Given the description of an element on the screen output the (x, y) to click on. 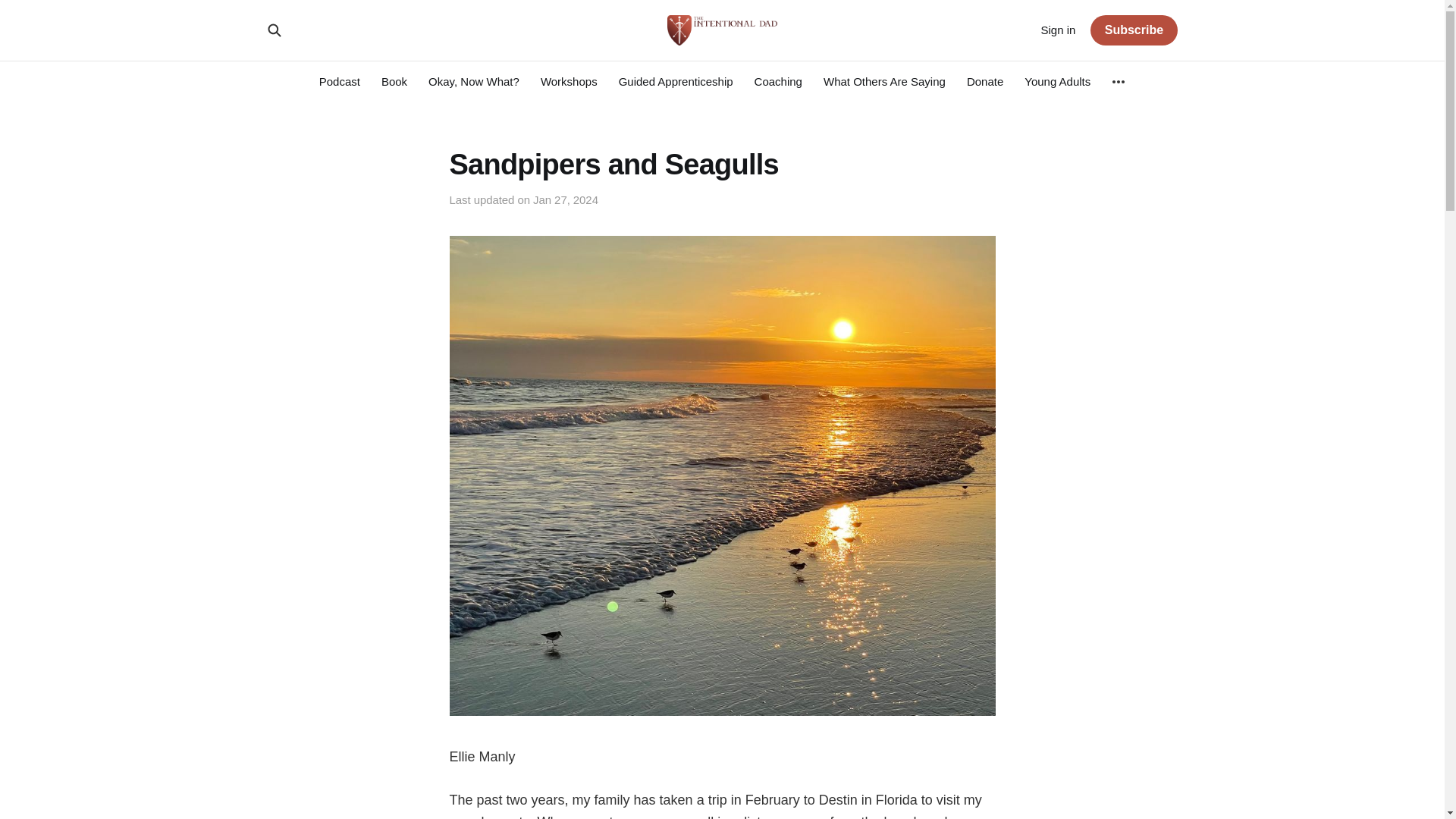
Okay, Now What? (473, 81)
Book (394, 81)
Workshops (568, 81)
Subscribe (1133, 30)
What Others Are Saying (884, 81)
Podcast (338, 81)
Donate (984, 81)
Young Adults (1057, 81)
Guided Apprenticeship (675, 81)
Sign in (1058, 30)
